Given the description of an element on the screen output the (x, y) to click on. 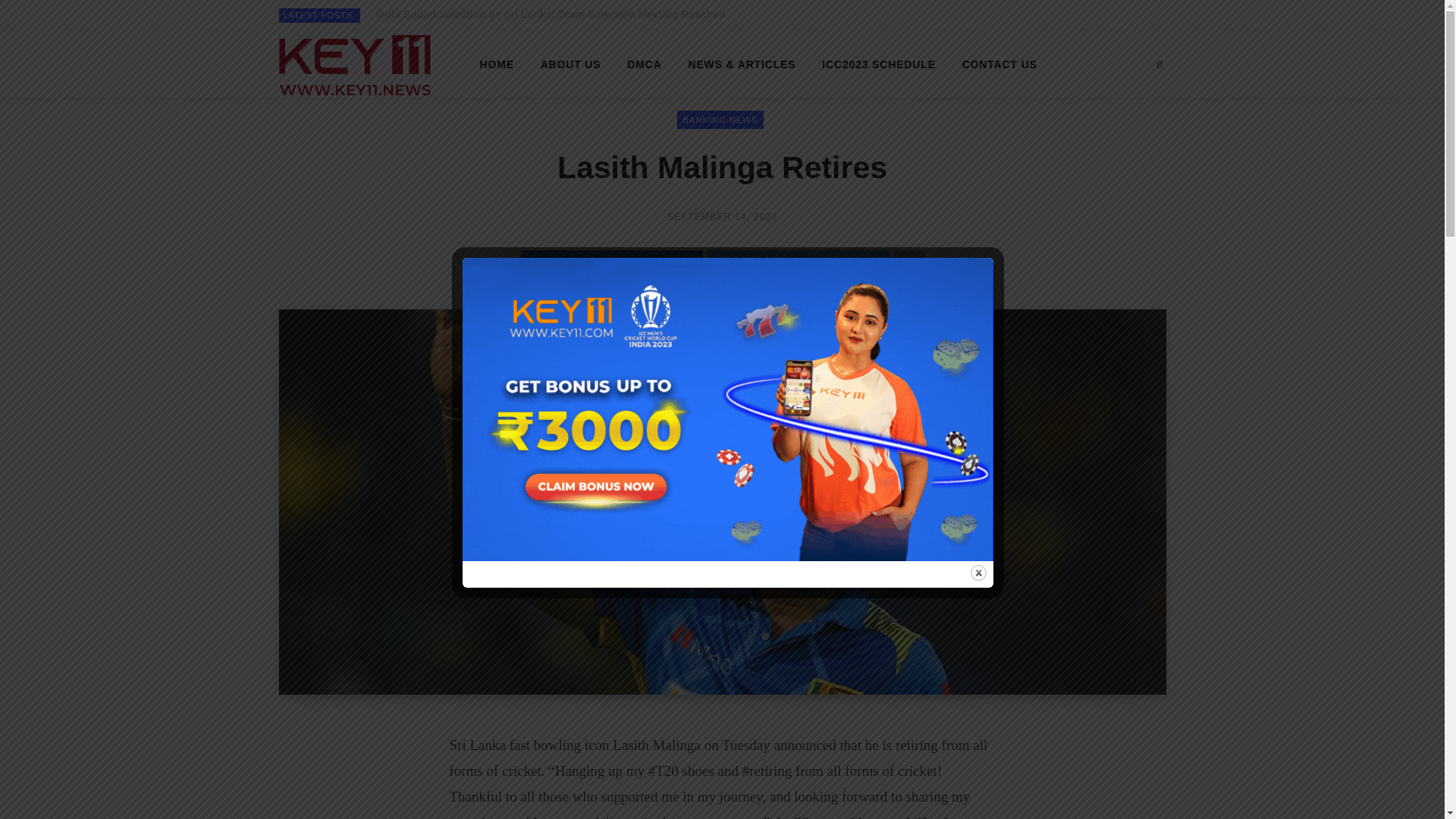
HOME (496, 64)
Share on Twitter (797, 265)
Share on Twitter (797, 265)
Search (1159, 64)
CONTACT US (999, 64)
Facebook (1134, 15)
Share on Facebook (610, 265)
Instagram (1159, 15)
ABOUT US (570, 64)
Key11 News (354, 65)
ICC2023 SCHEDULE (878, 64)
SEPTEMBER 14, 2021 (721, 216)
Share on Facebook (610, 265)
